Given the description of an element on the screen output the (x, y) to click on. 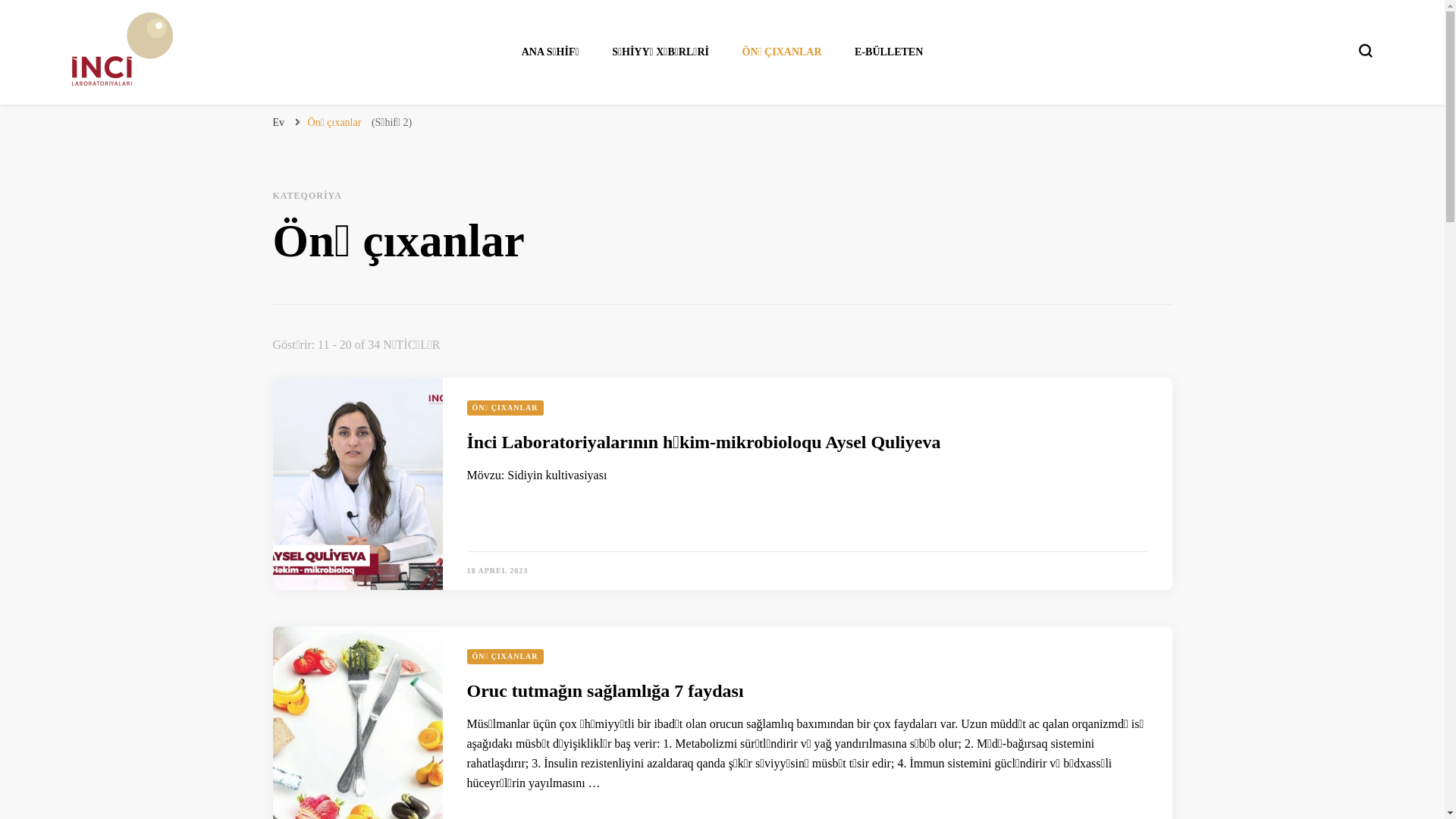
18 APREL 2023 Element type: text (497, 570)
Ev Element type: text (279, 122)
